Given the description of an element on the screen output the (x, y) to click on. 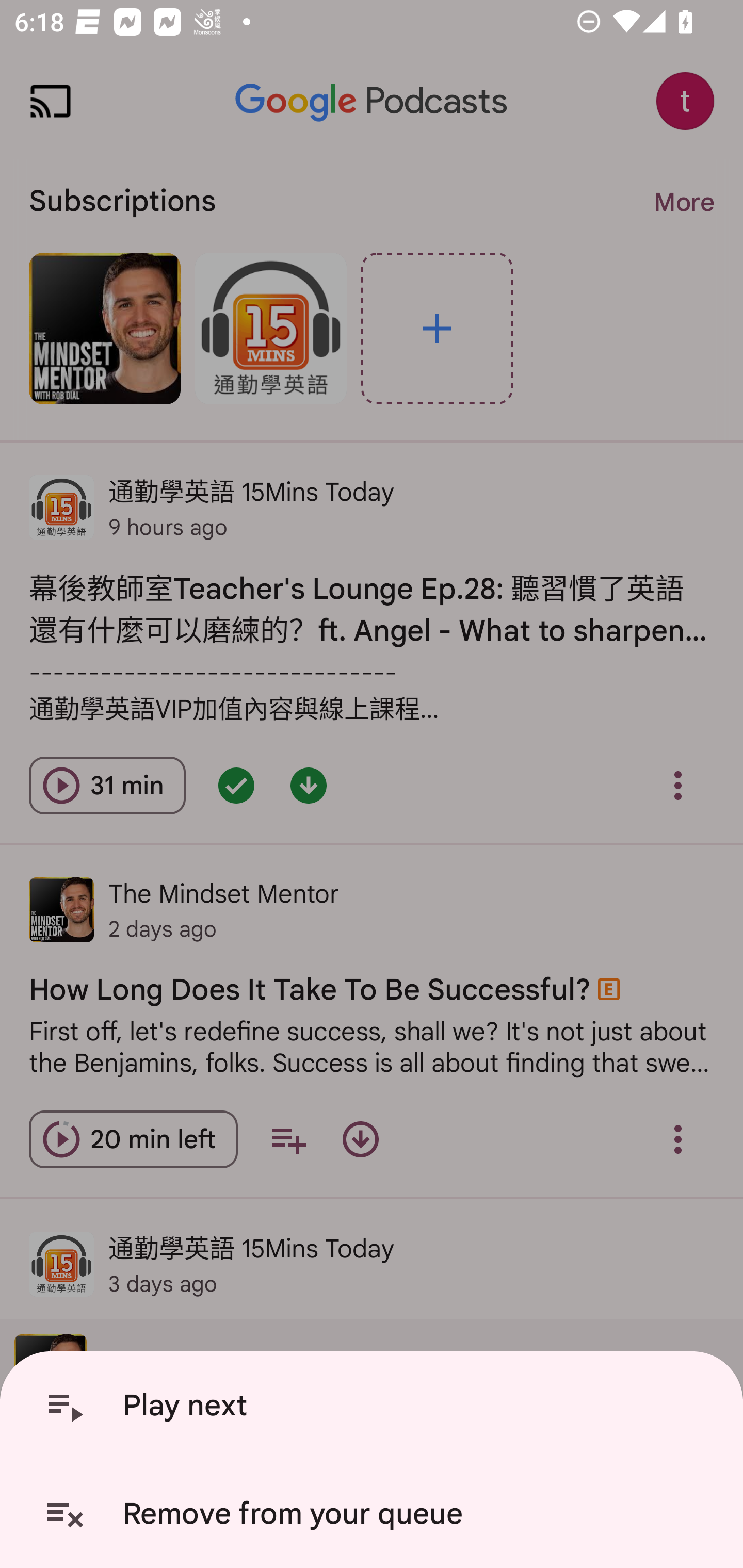
Play next (375, 1405)
Remove from your queue (375, 1513)
